Given the description of an element on the screen output the (x, y) to click on. 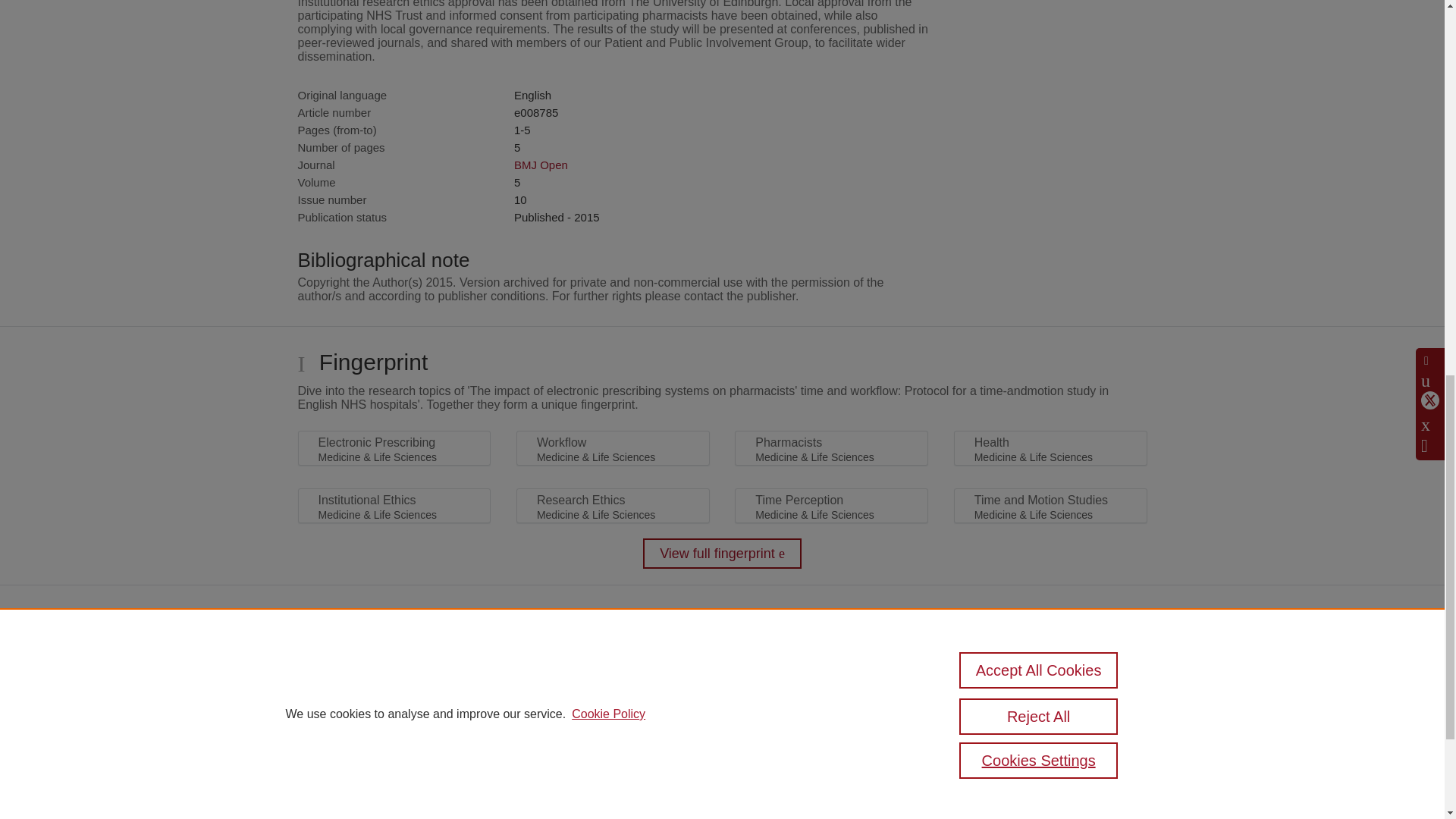
View full fingerprint (722, 553)
BMJ Open (540, 164)
